Given the description of an element on the screen output the (x, y) to click on. 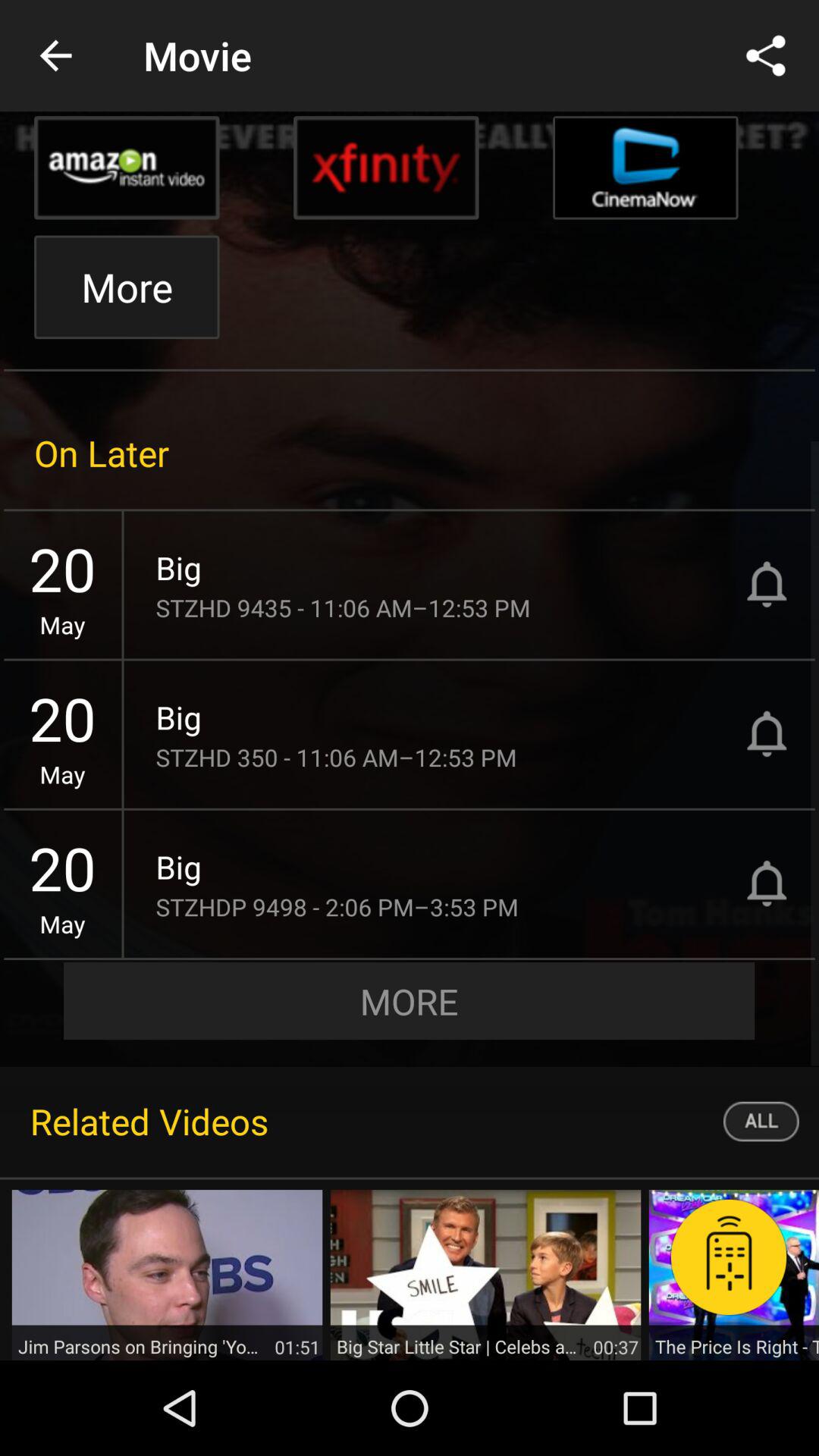
open the item next to the movie item (55, 55)
